Given the description of an element on the screen output the (x, y) to click on. 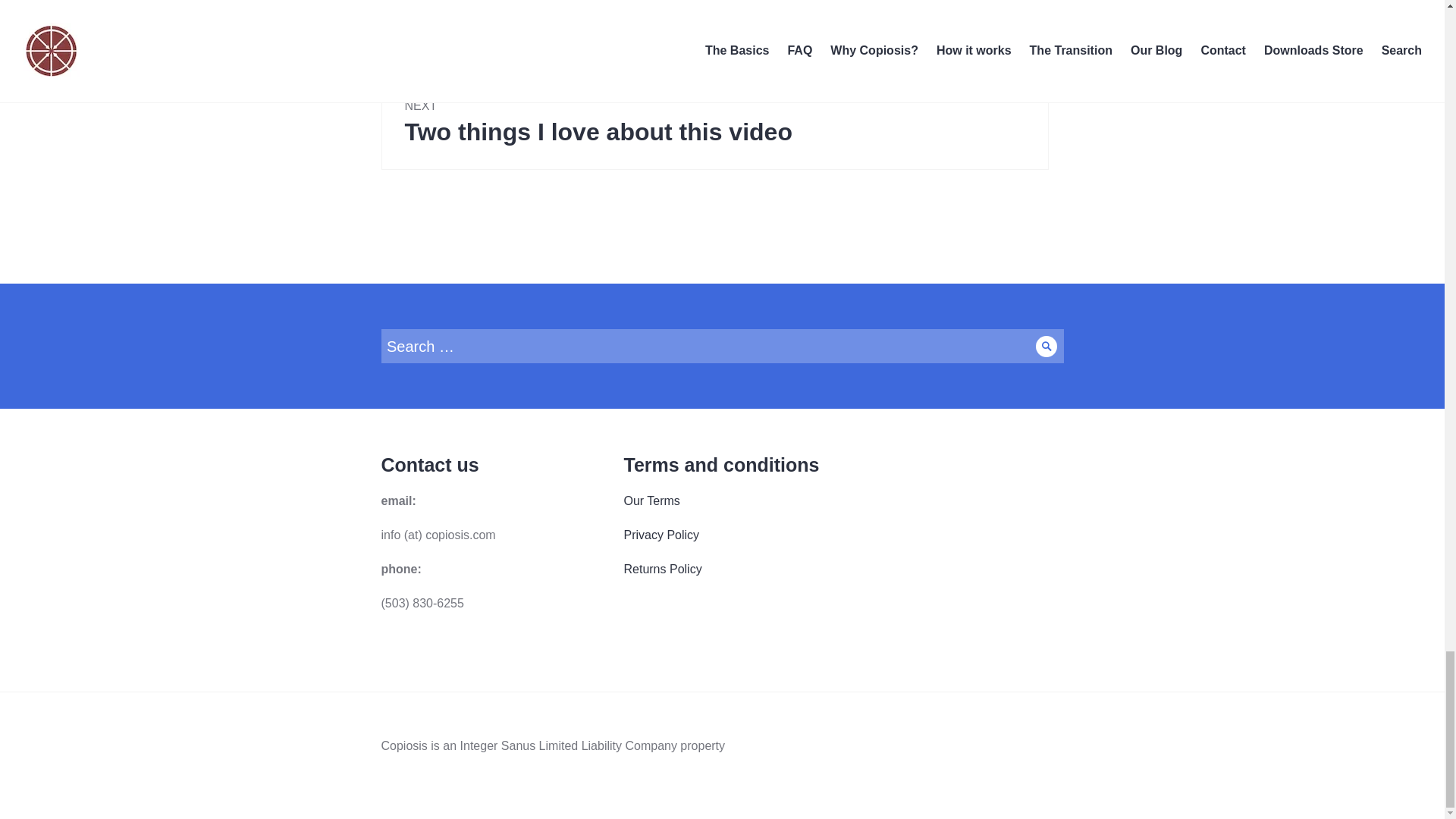
Search (714, 120)
Privacy Policy (1046, 346)
Returns Policy (660, 534)
Our Terms (714, 36)
Search for: (662, 568)
